Given the description of an element on the screen output the (x, y) to click on. 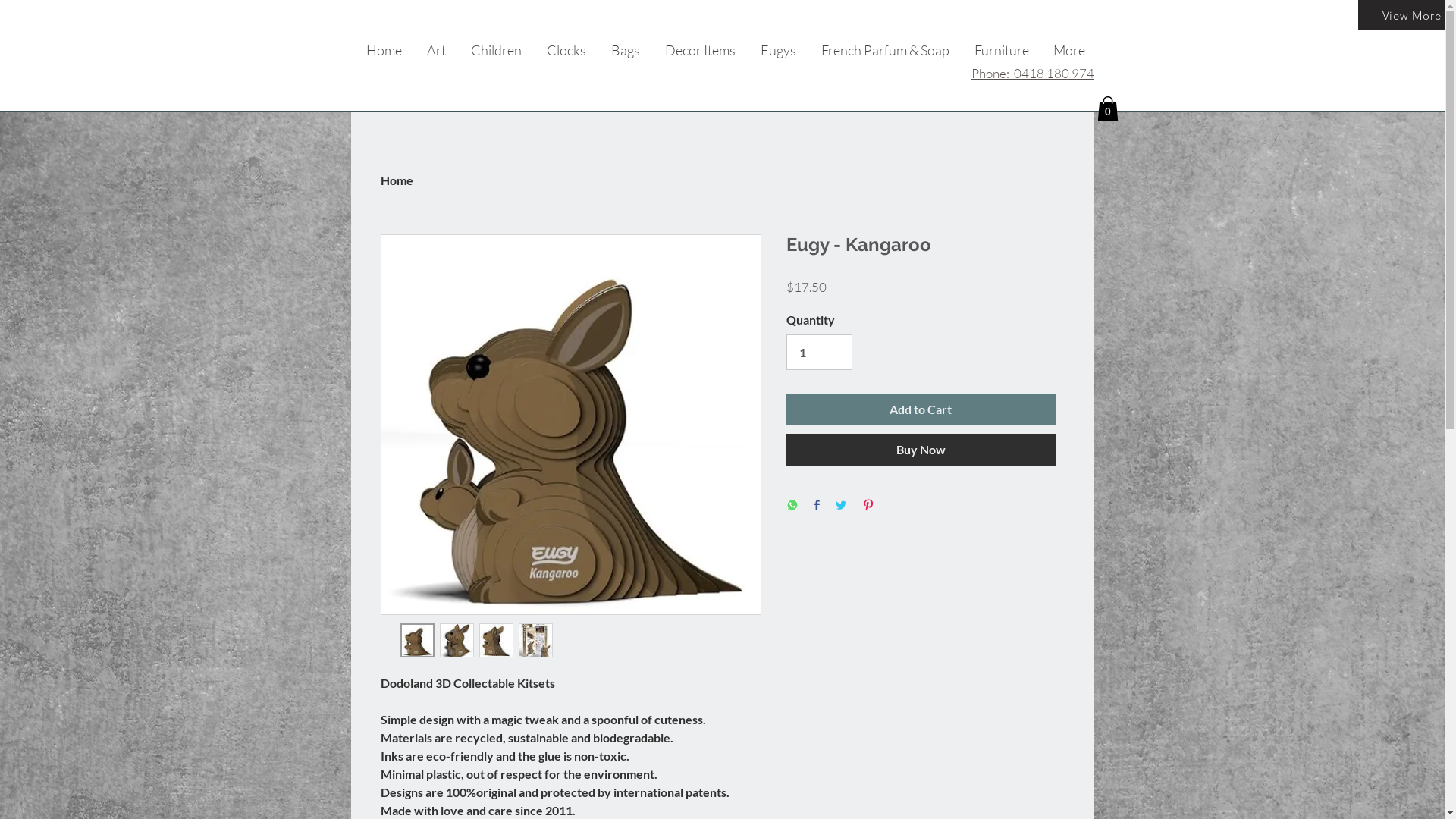
French Parfum & Soap Element type: text (884, 50)
Home Element type: text (383, 50)
Buy Now Element type: text (919, 449)
Clocks Element type: text (565, 50)
Phone:  0418 180 974 Element type: text (1031, 72)
Decor Items Element type: text (699, 50)
Art Element type: text (436, 50)
Furniture Element type: text (1000, 50)
Add to Cart Element type: text (919, 409)
Eugys Element type: text (777, 50)
Home Element type: text (396, 179)
Bags Element type: text (625, 50)
0 Element type: text (1106, 108)
Children Element type: text (495, 50)
